Given the description of an element on the screen output the (x, y) to click on. 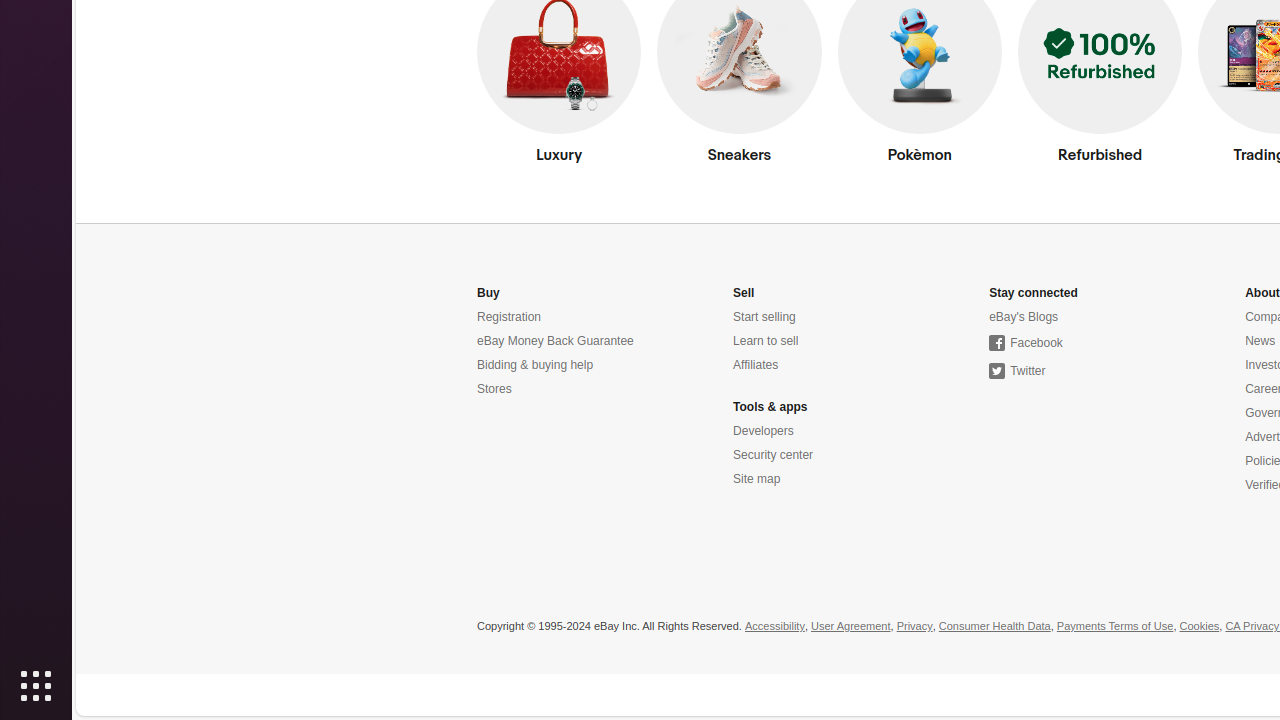
Developers Element type: link (763, 431)
eBay's Blogs Element type: link (1024, 317)
Learn to sell Element type: link (766, 341)
Stores Element type: link (494, 389)
News Element type: link (1260, 341)
